Given the description of an element on the screen output the (x, y) to click on. 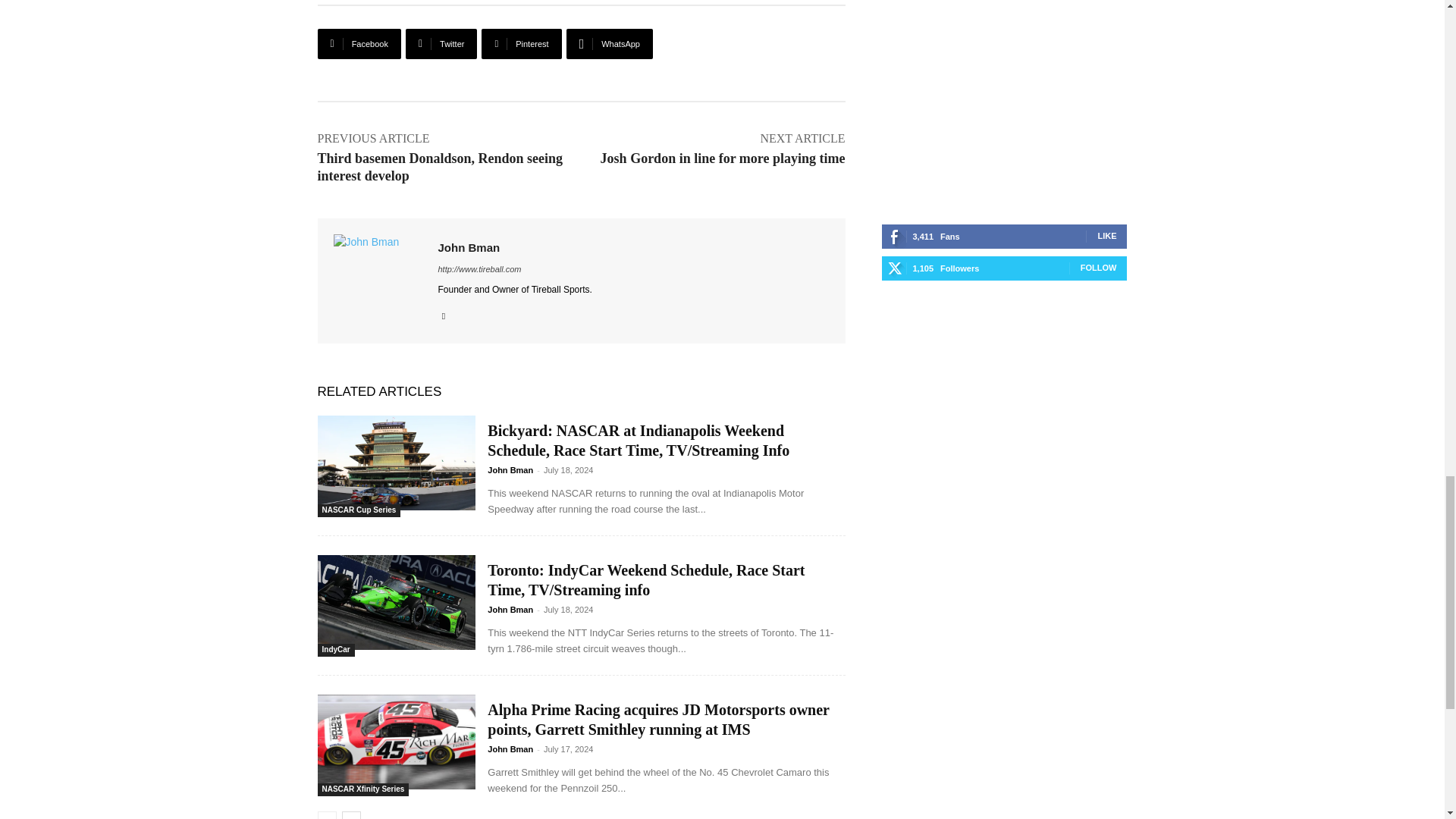
Pinterest (520, 43)
Twitter (441, 43)
WhatsApp (609, 43)
Facebook (358, 43)
